Given the description of an element on the screen output the (x, y) to click on. 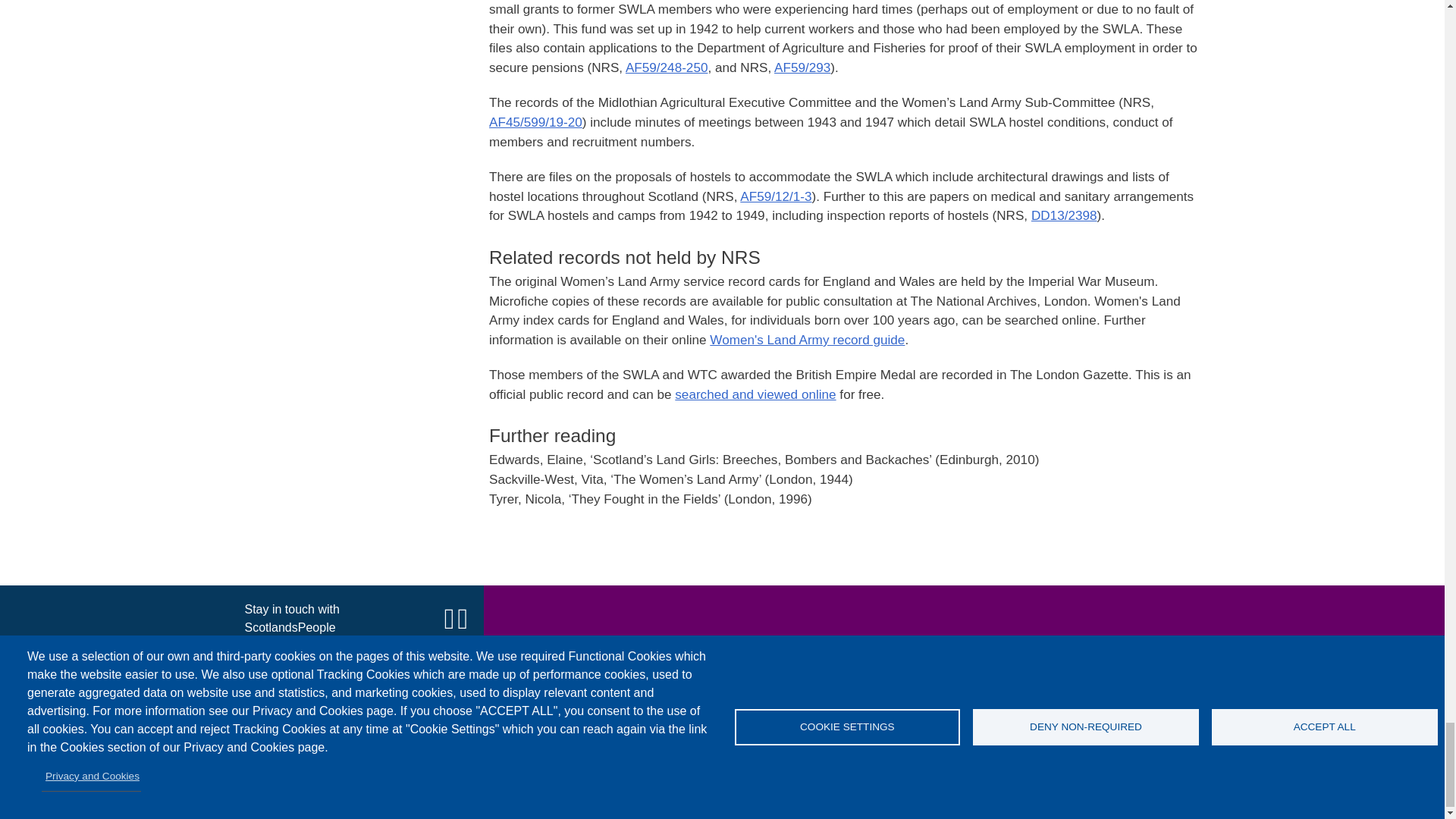
Link to NRS catalogue entry (774, 196)
Link to NRS catalogue entry (801, 67)
Women's Land Army record guide (807, 339)
Link to NRS catalogue entry (535, 121)
Link to NRS catalogue entry (1063, 215)
searched and viewed online (755, 394)
Link to NRS catalogue entry (666, 67)
